Given the description of an element on the screen output the (x, y) to click on. 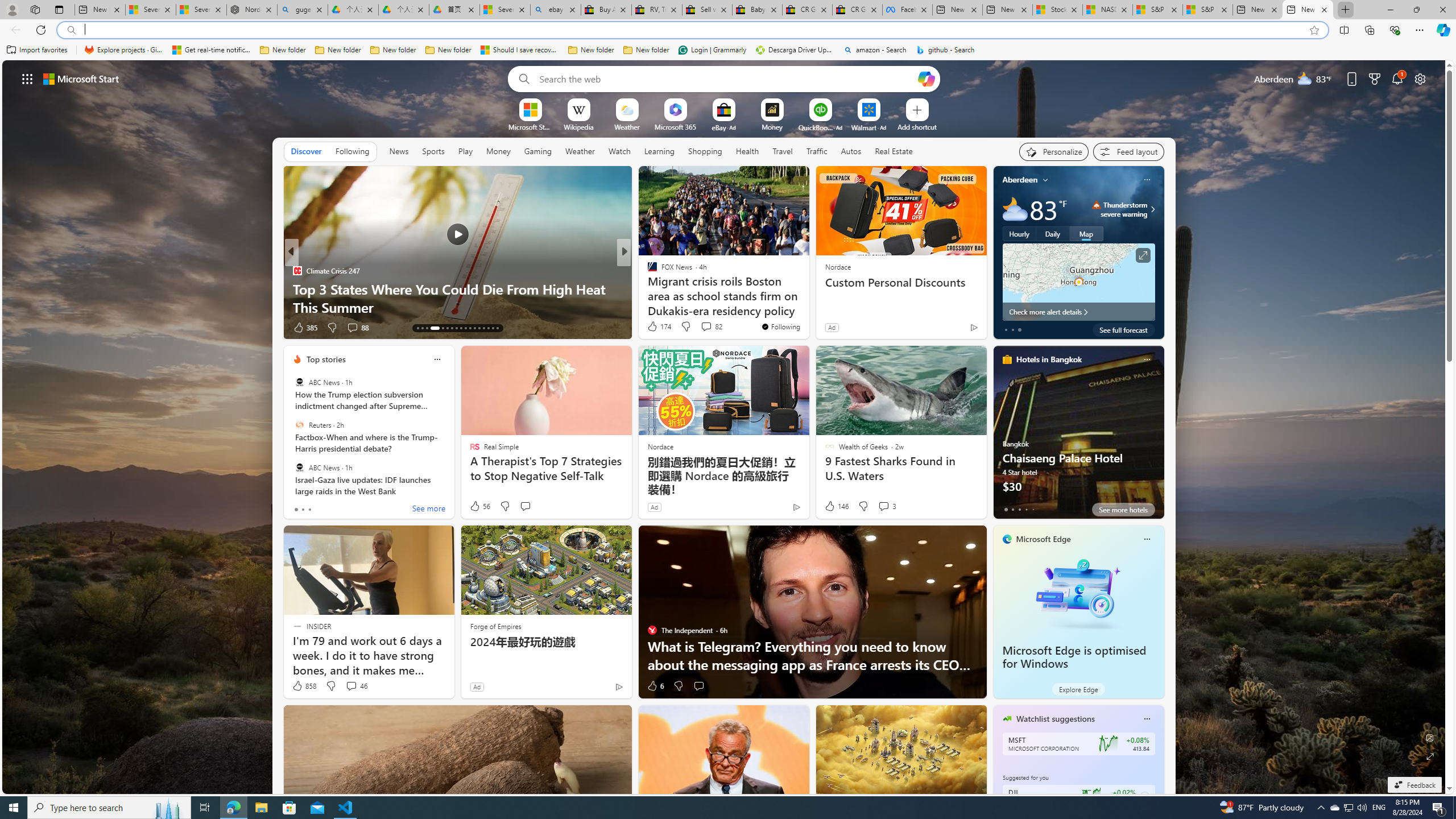
View comments 82 Comment (705, 326)
69 Like (652, 327)
AutomationID: tab-21 (460, 328)
Travel (782, 151)
56 Like (479, 505)
AutomationID: tab-14 (422, 328)
The Manual (647, 270)
Descarga Driver Updater (794, 49)
tab-0 (1005, 509)
Sports (432, 151)
